Given the description of an element on the screen output the (x, y) to click on. 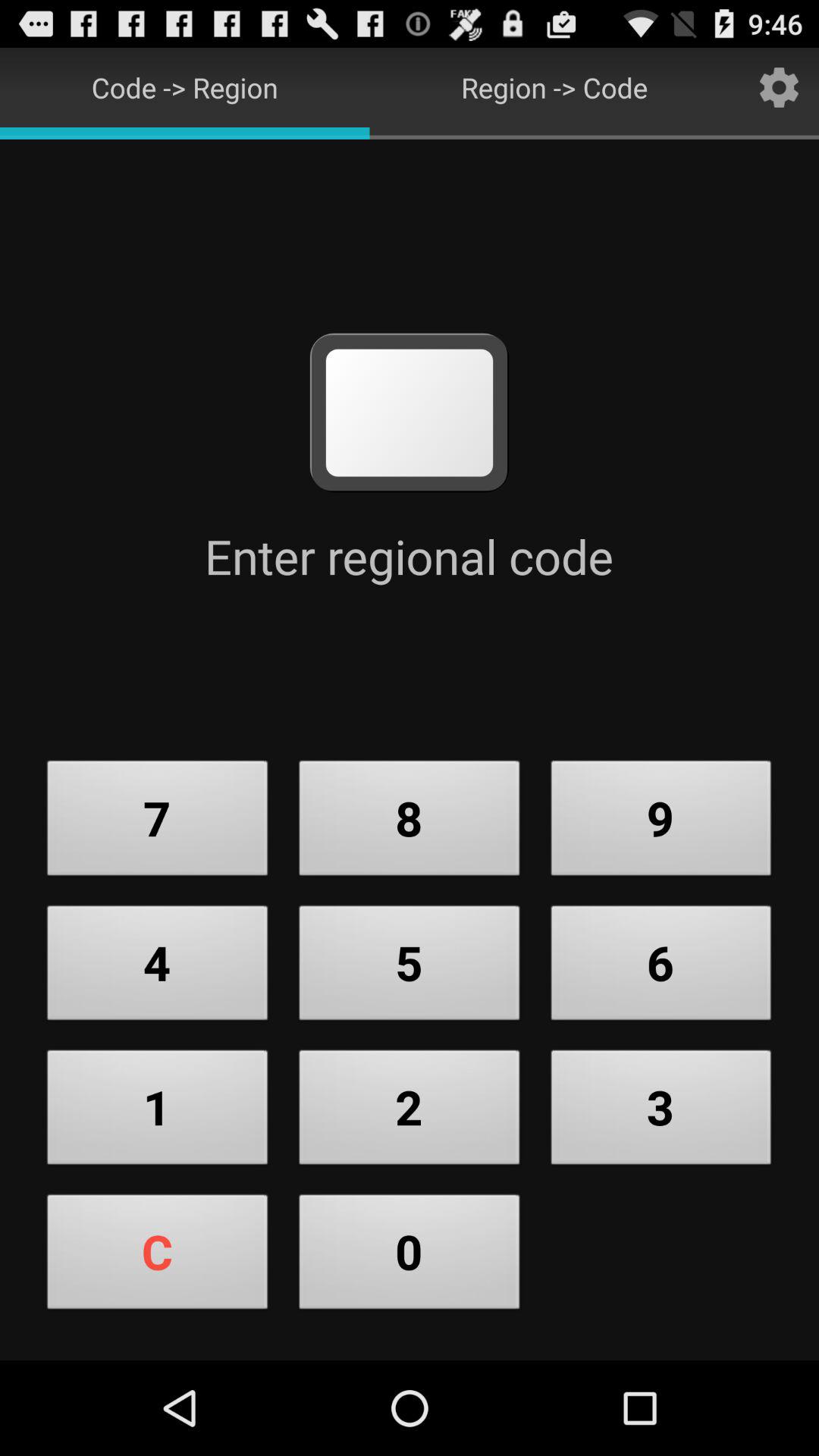
click on the number at the bottom of the page above 0 (409, 1112)
